Given the description of an element on the screen output the (x, y) to click on. 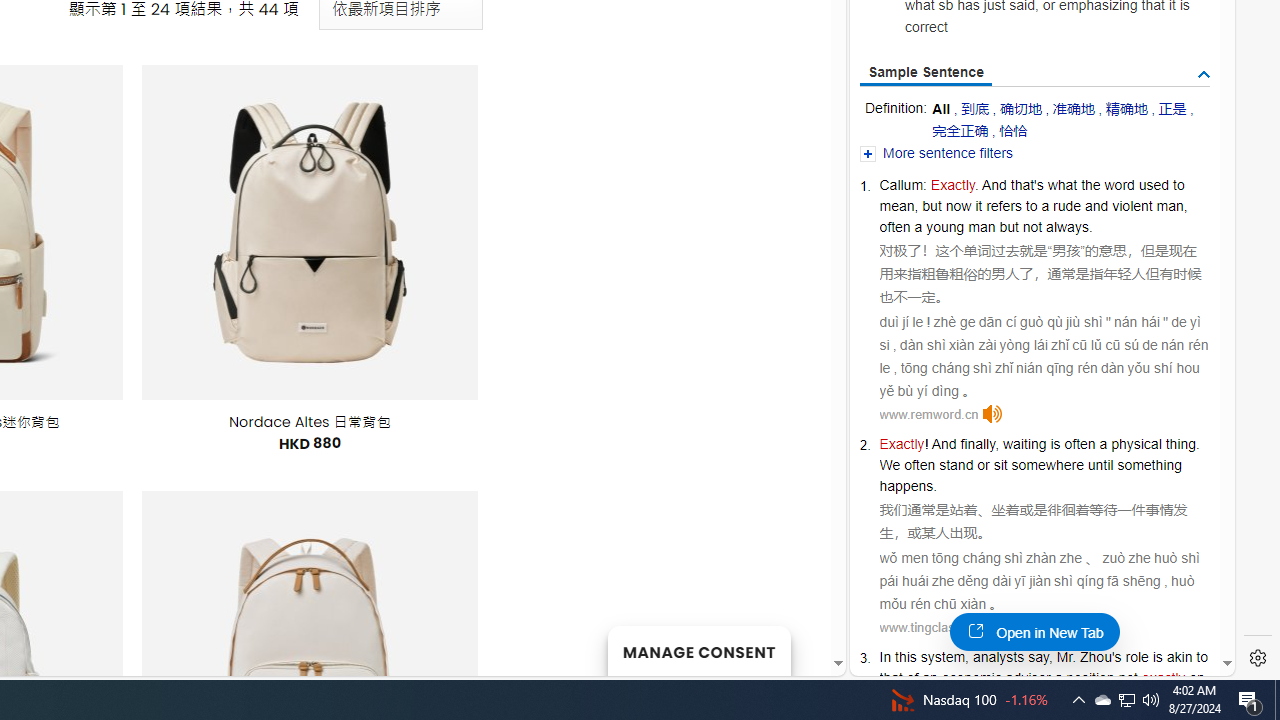
MANAGE CONSENT (698, 650)
We (890, 465)
word (1119, 184)
not (1127, 678)
economic (971, 678)
's (1116, 656)
thing (1180, 444)
